Given the description of an element on the screen output the (x, y) to click on. 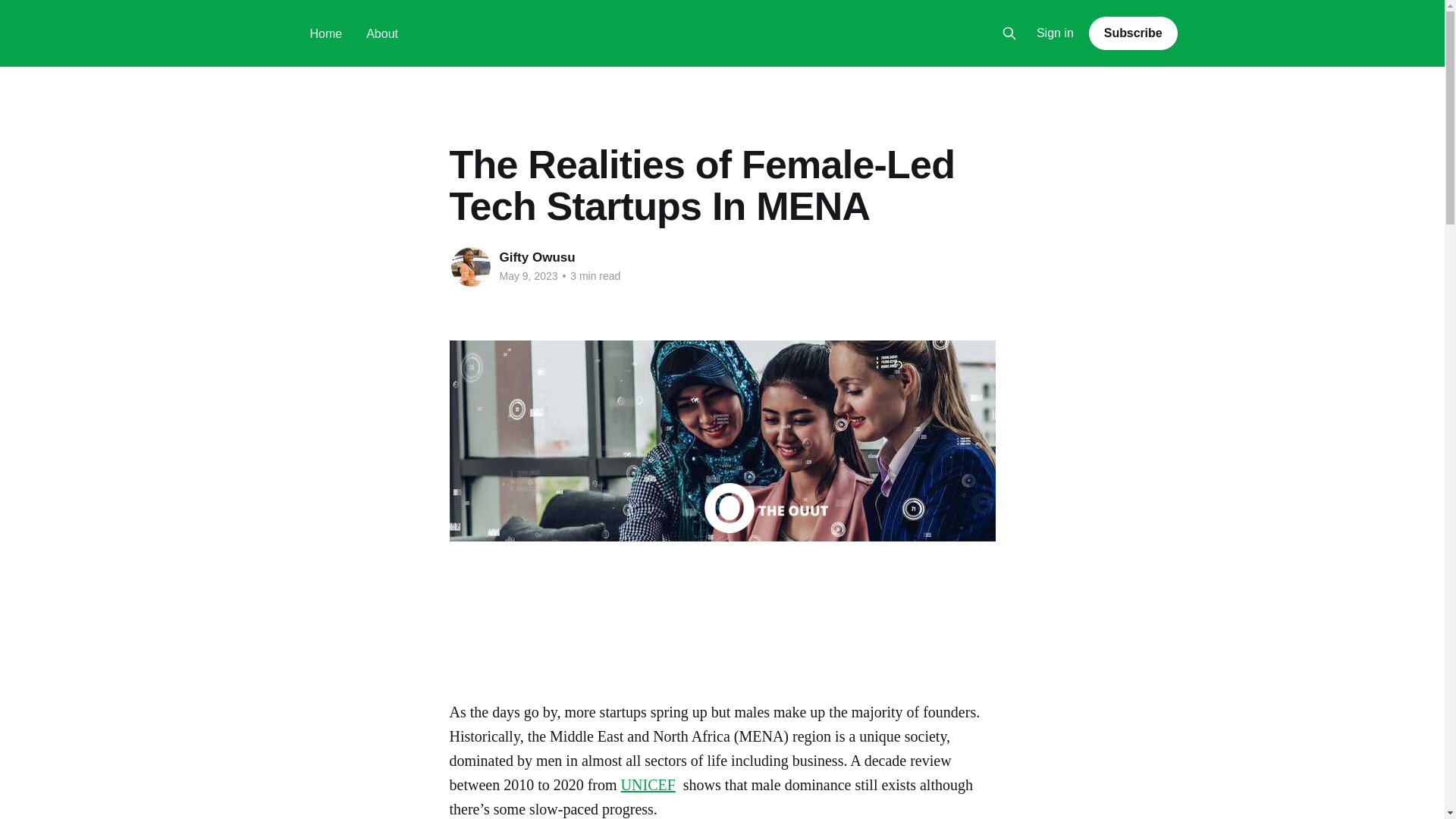
UNICEF (648, 784)
Home (325, 33)
Gifty Owusu (537, 257)
About (381, 33)
Subscribe (1133, 32)
Sign in (1055, 33)
